Given the description of an element on the screen output the (x, y) to click on. 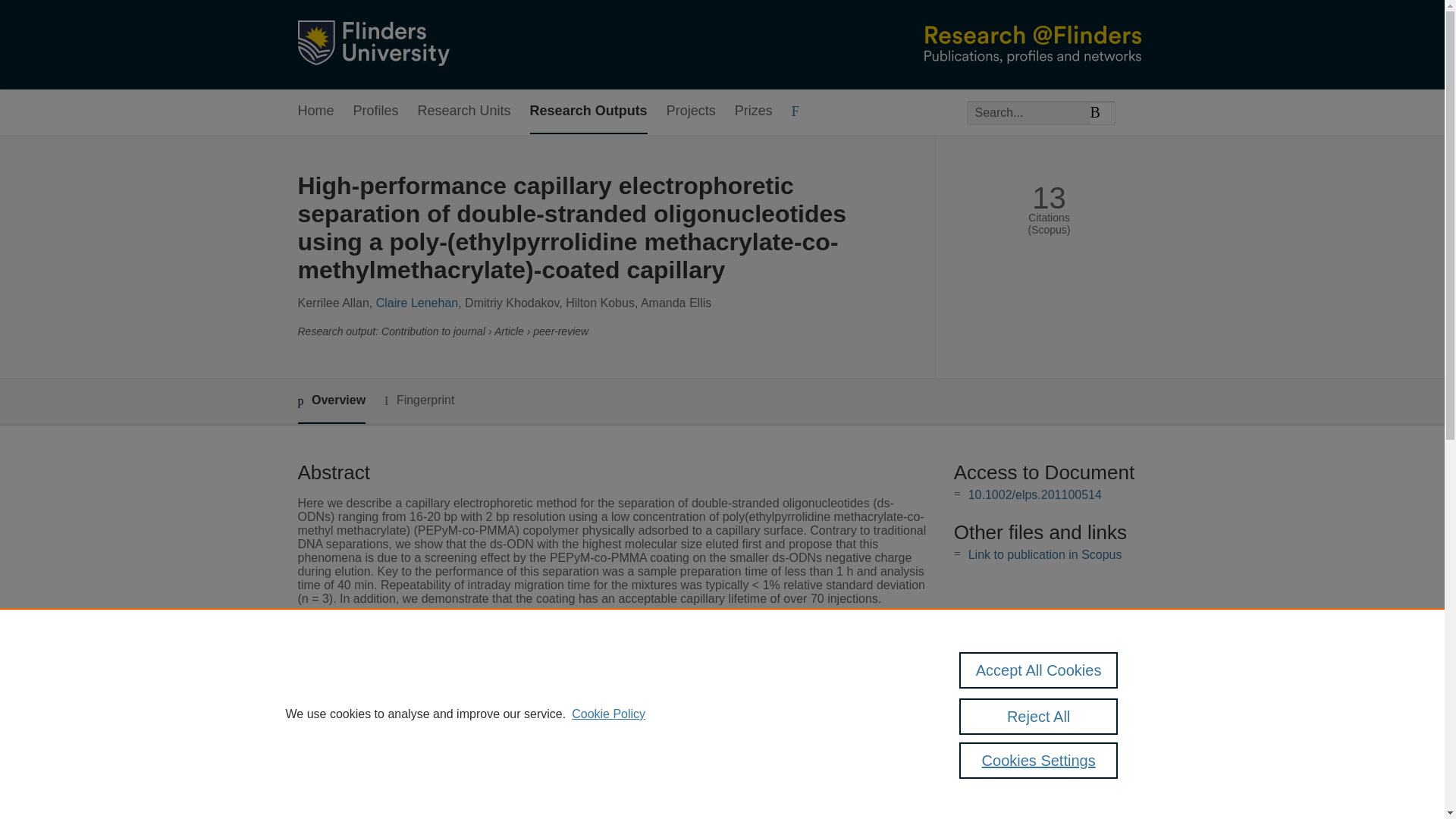
Research Outputs (588, 111)
Overview (331, 401)
Claire Lenehan (416, 302)
Electrophoresis (552, 689)
Research Units (464, 111)
Link to publication in Scopus (1045, 554)
Fingerprint (419, 400)
Profiles (375, 111)
Projects (691, 111)
